Given the description of an element on the screen output the (x, y) to click on. 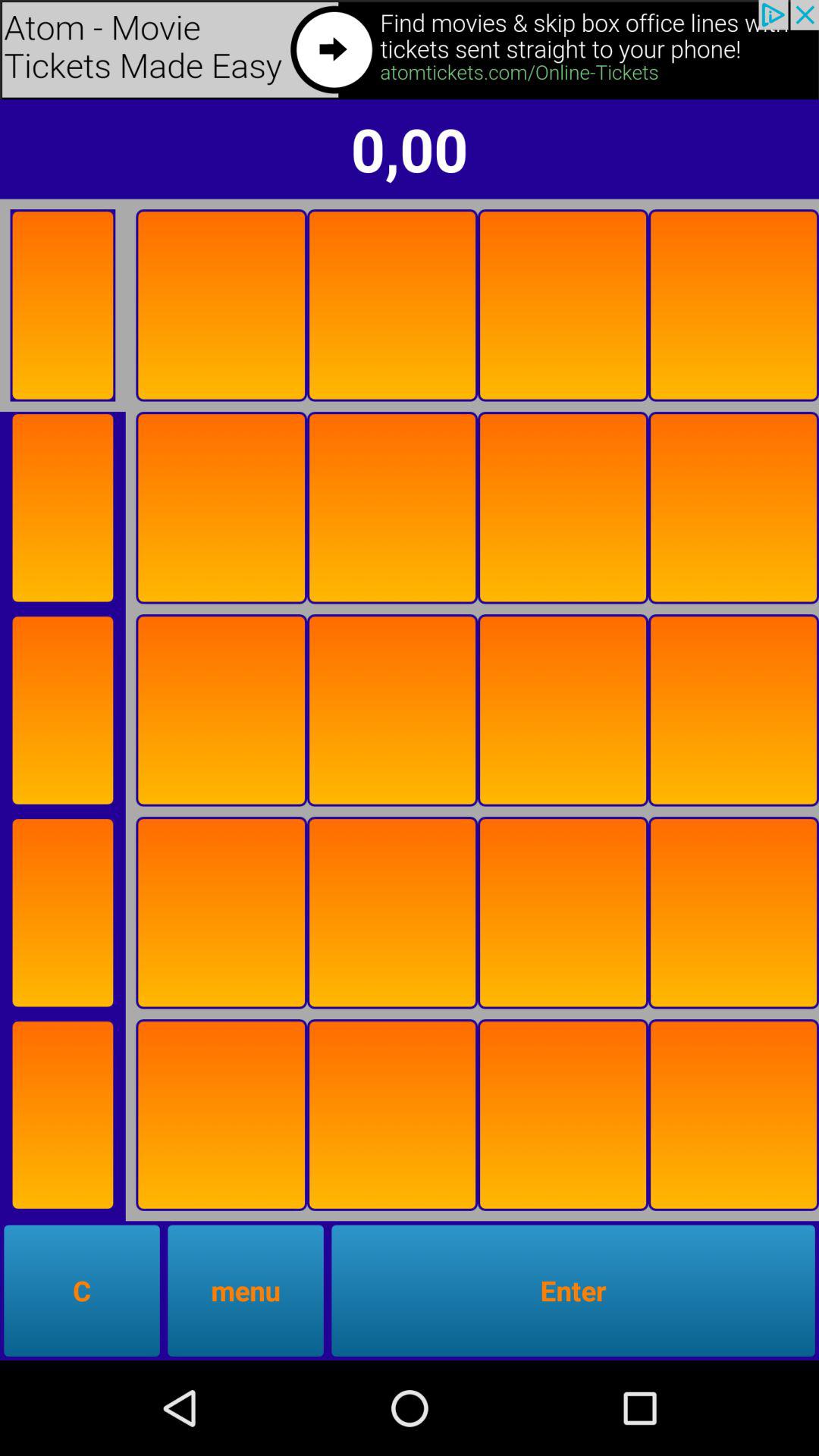
god to another website (409, 49)
